Given the description of an element on the screen output the (x, y) to click on. 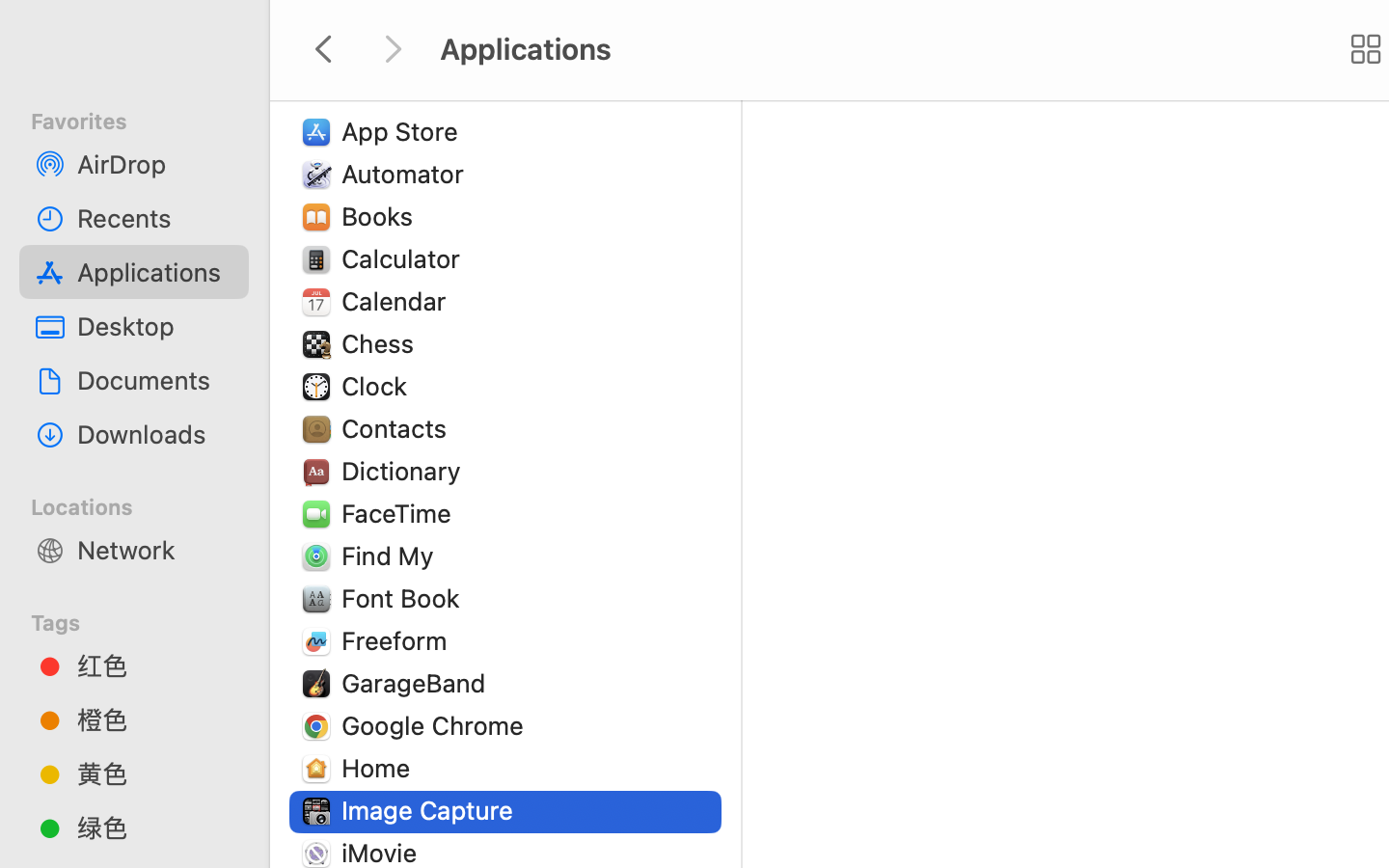
Downloads Element type: AXStaticText (155, 433)
FaceTime Element type: AXTextField (400, 512)
Clock Element type: AXTextField (378, 385)
Calendar Element type: AXTextField (398, 300)
Contacts Element type: AXTextField (398, 427)
